Given the description of an element on the screen output the (x, y) to click on. 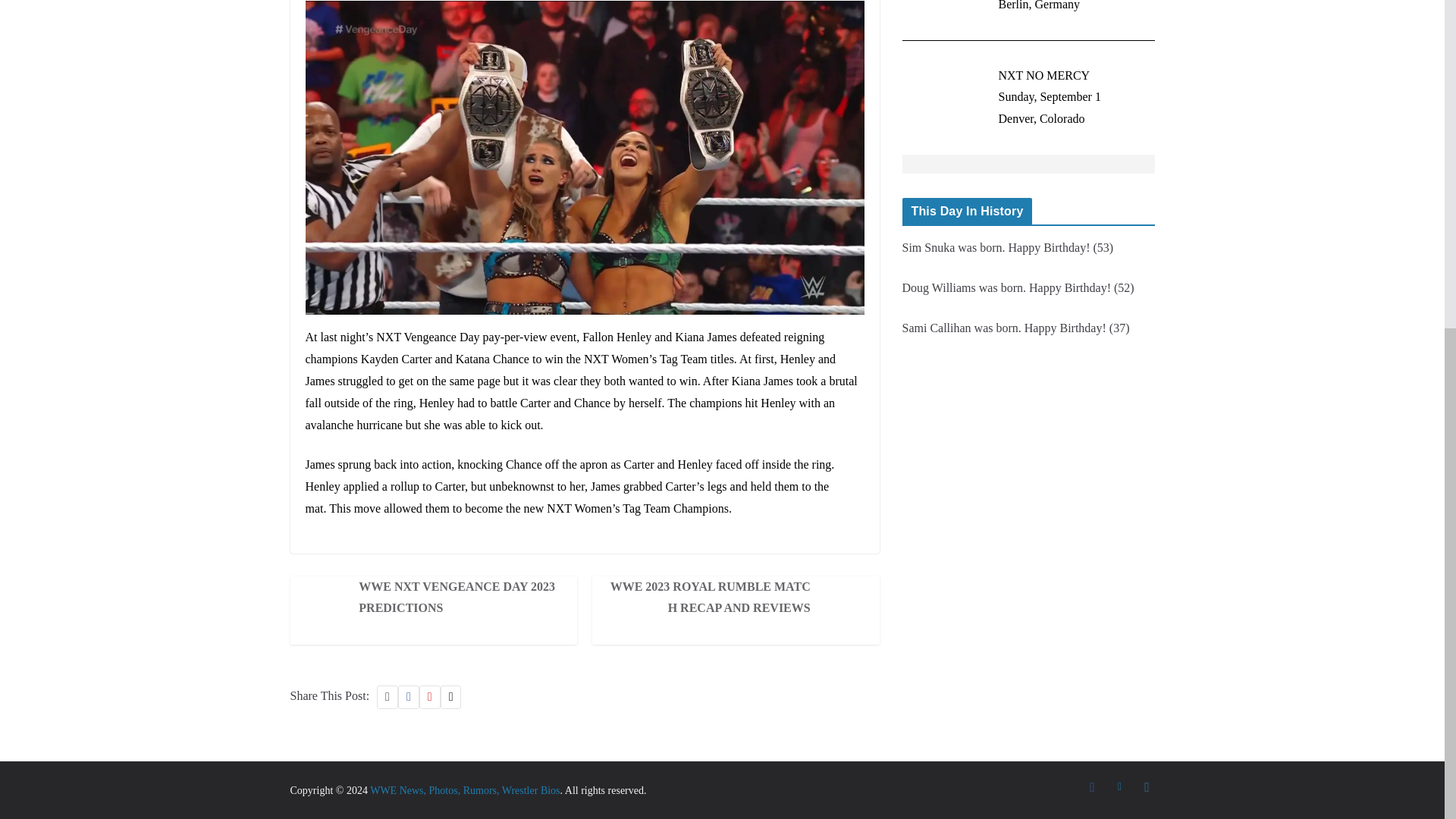
WWE News, Photos, Rumors, Wrestler Bios (464, 790)
WWE 2023 ROYAL RUMBLE MATCH RECAP AND REVIEWS (714, 597)
WWE NXT VENGEANCE DAY 2023 PREDICTIONS (454, 597)
WWE News, Photos, Rumors, Wrestler Bios (464, 790)
